Given the description of an element on the screen output the (x, y) to click on. 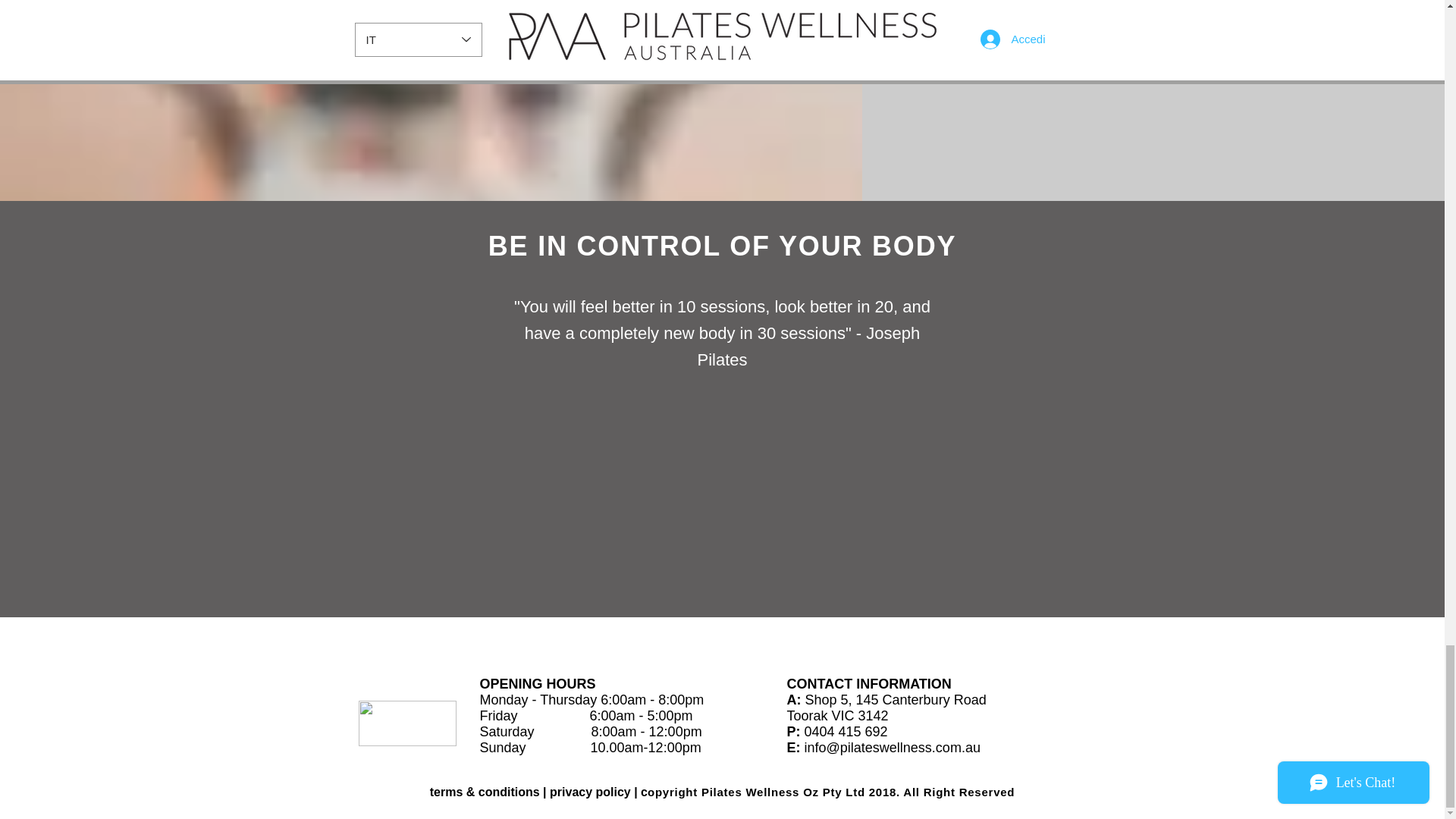
privacy policy (590, 791)
